Given the description of an element on the screen output the (x, y) to click on. 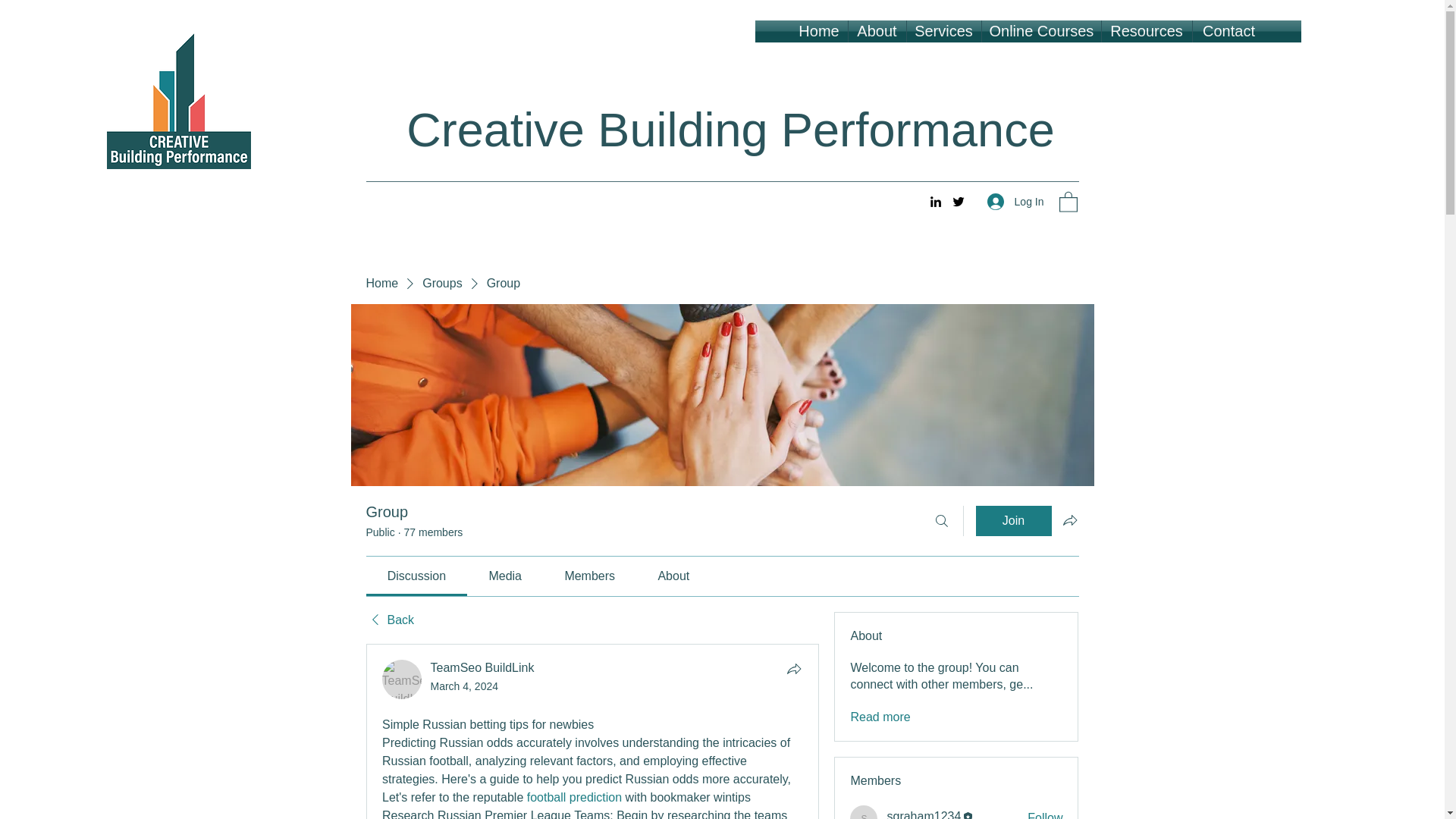
Home (381, 283)
sgraham1234 (863, 812)
Groups (441, 283)
sgraham1234 (923, 814)
Online Courses (1040, 31)
About (876, 31)
football prediction (573, 797)
Contact (1228, 31)
Resources (1145, 31)
Log In (1015, 202)
